Given the description of an element on the screen output the (x, y) to click on. 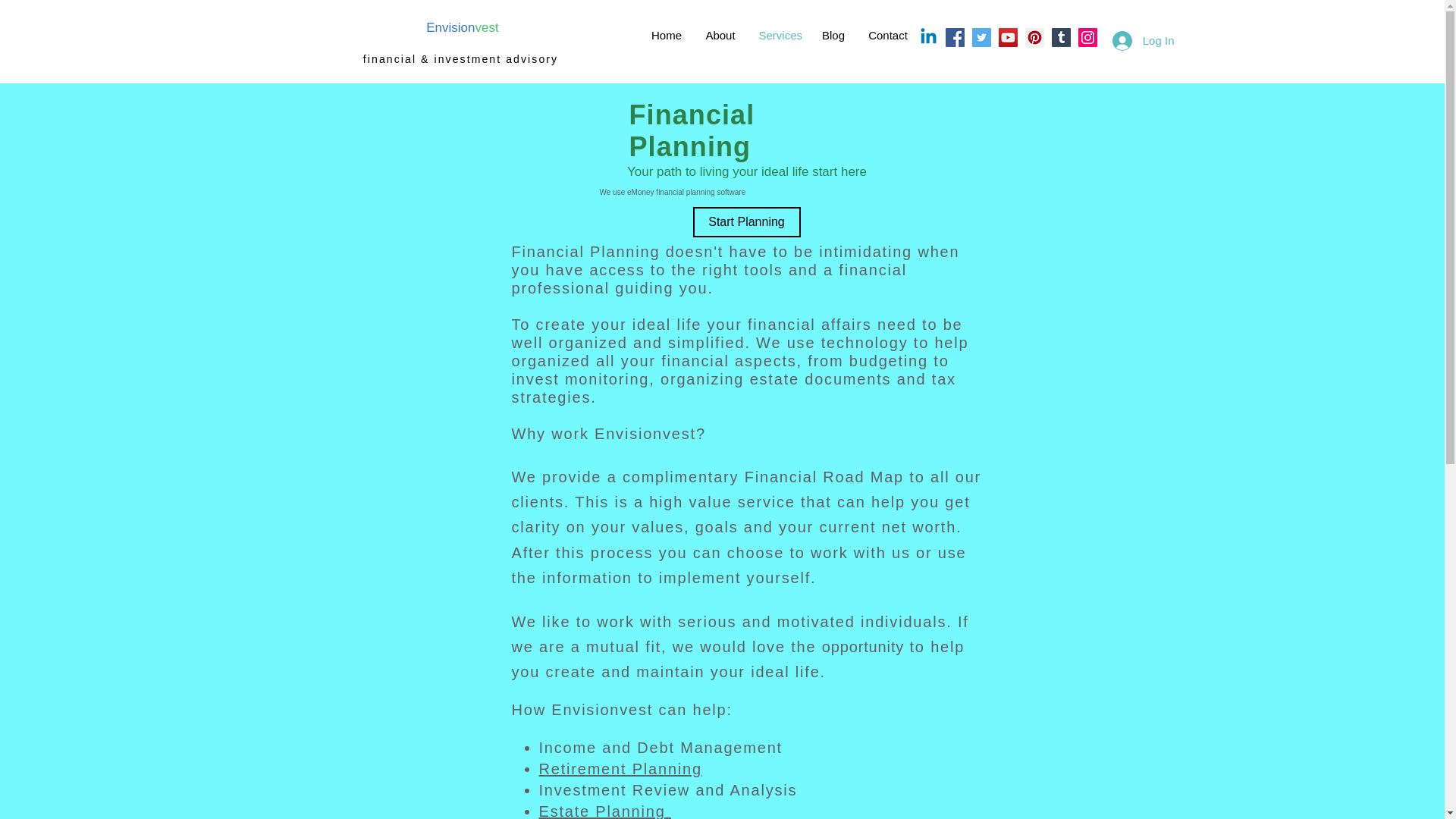
Envision (450, 27)
Blog (832, 35)
Services (779, 35)
Home (667, 35)
Contact (888, 35)
Estate Planning  (603, 811)
Retirement Planning (619, 768)
Start Planning (746, 222)
Log In (1143, 39)
About (719, 35)
